Given the description of an element on the screen output the (x, y) to click on. 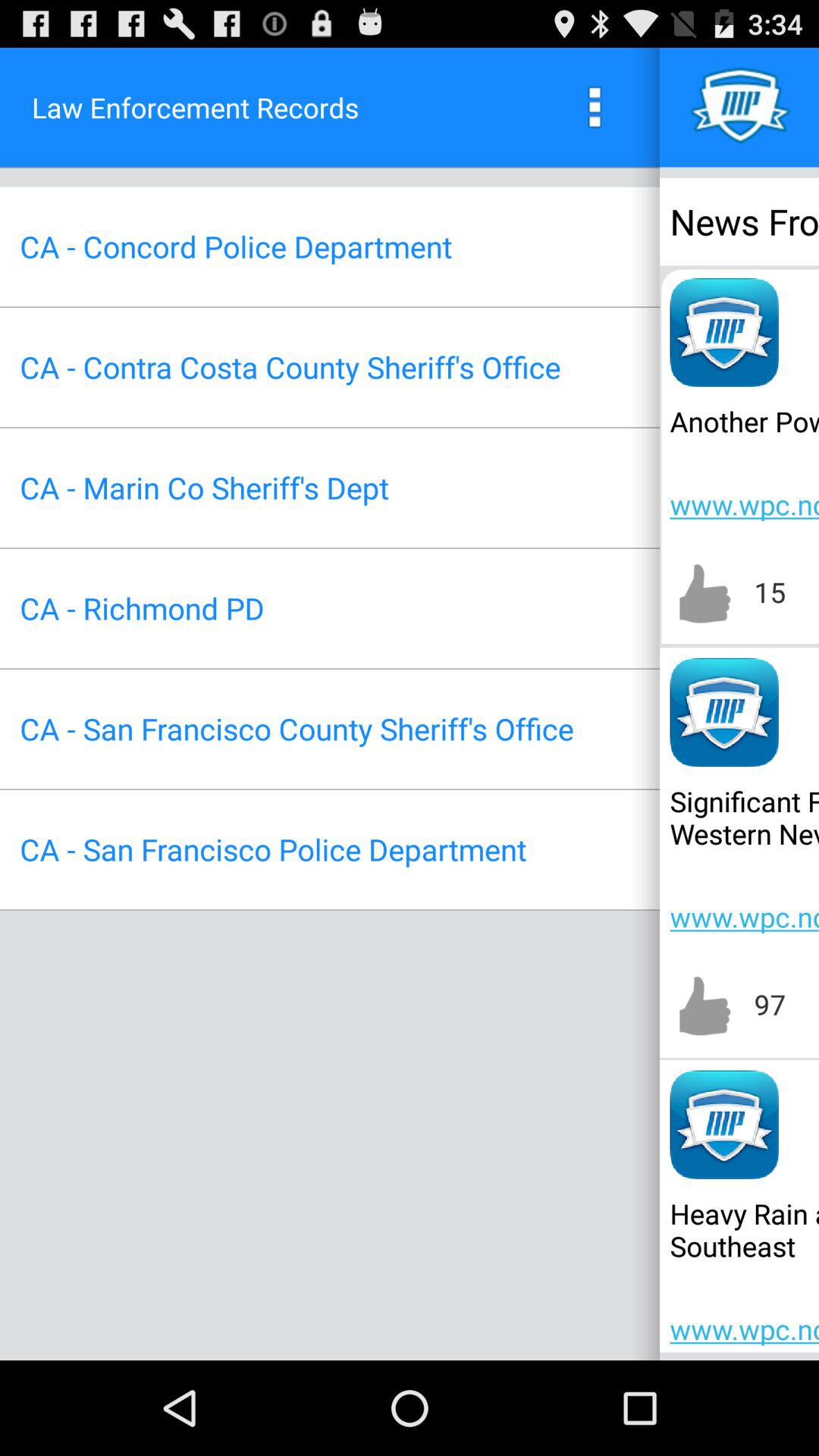
swipe to ca - richmond pd item (141, 608)
